Given the description of an element on the screen output the (x, y) to click on. 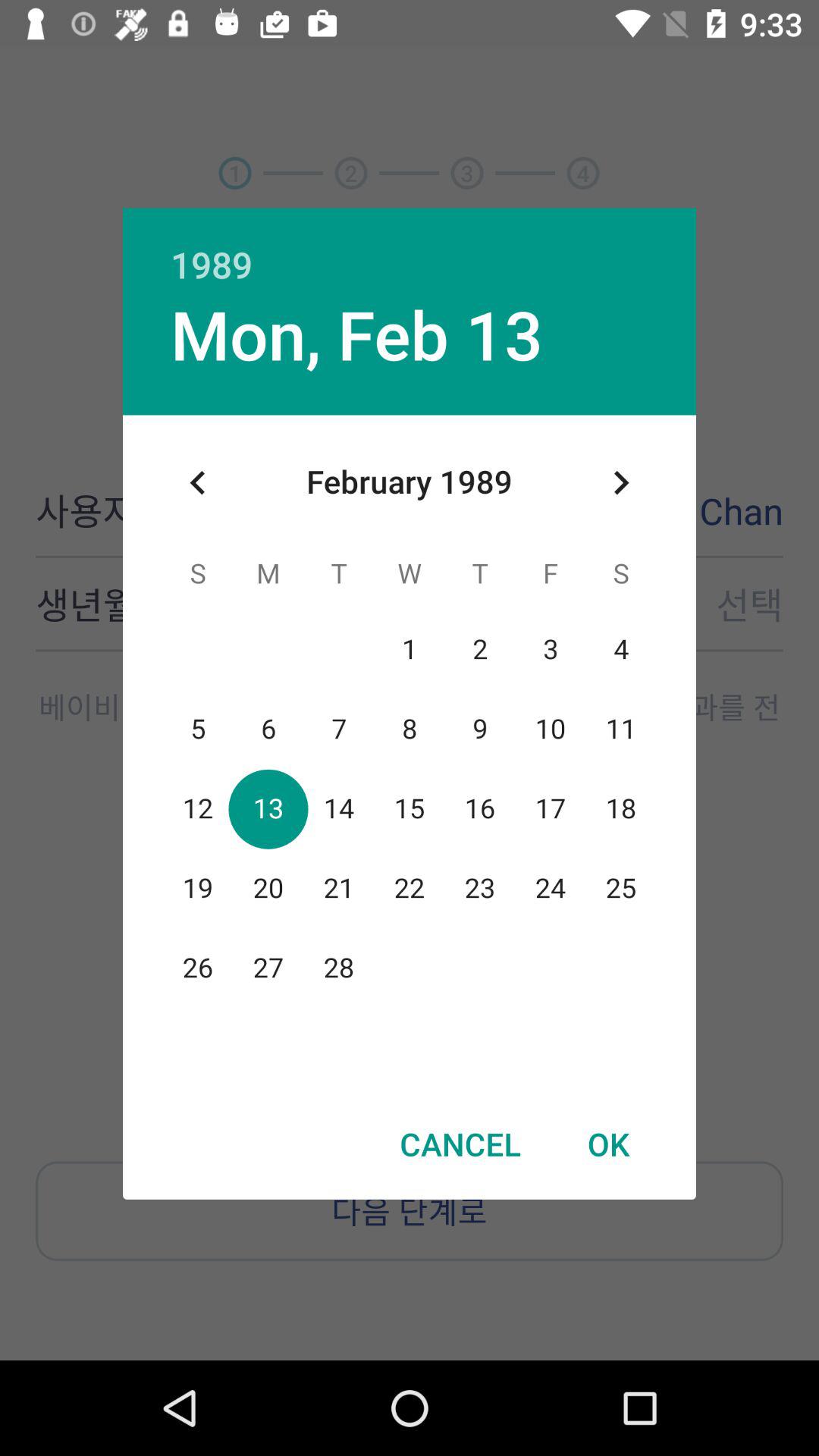
click item next to ok (459, 1143)
